Given the description of an element on the screen output the (x, y) to click on. 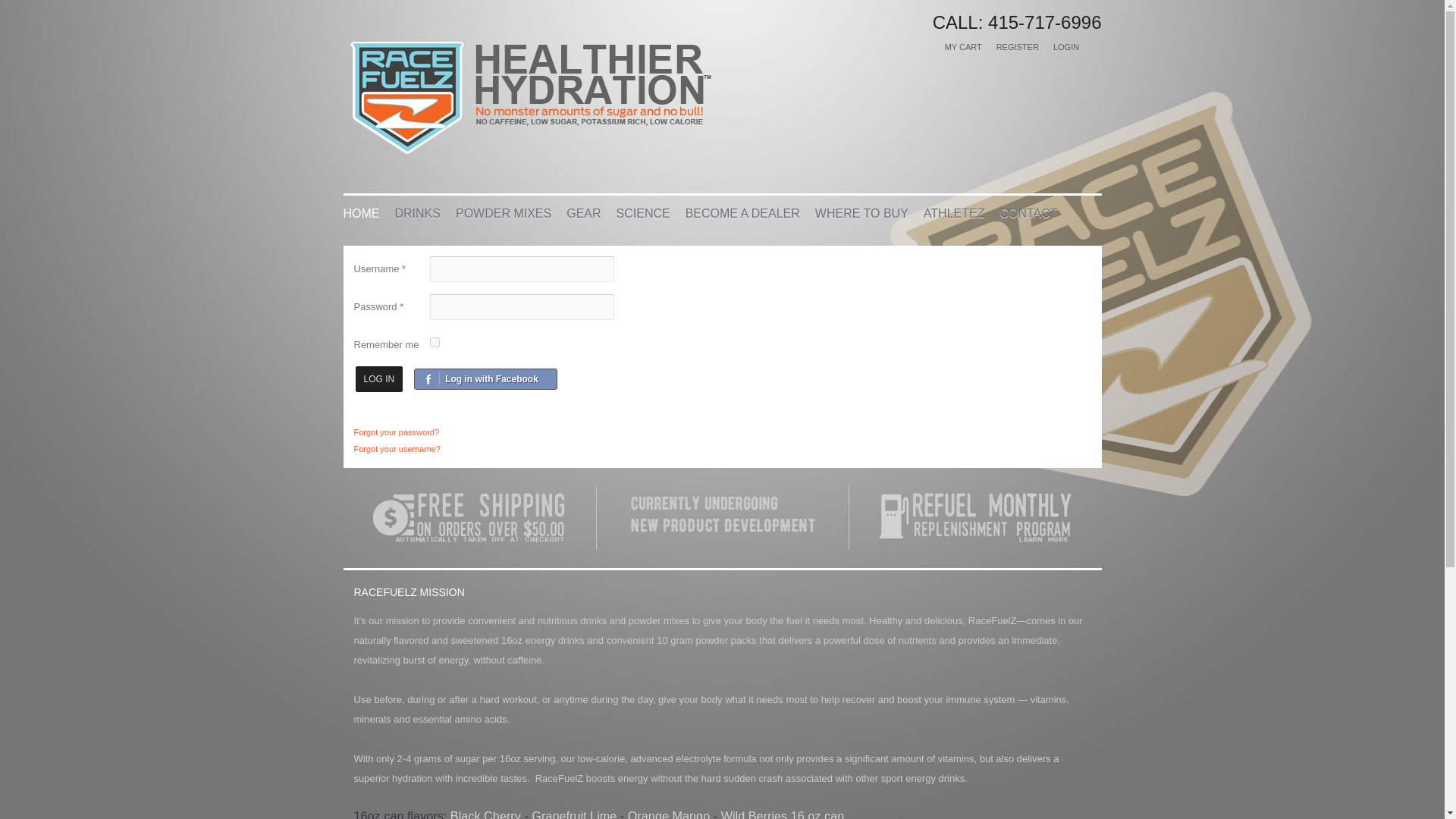
Forgot your username? (396, 448)
WHERE TO BUY (861, 212)
RaceFuelZ Grapefruit Lime 16oz can (573, 813)
Grapefruit Lime (573, 813)
BECOME A DEALER (742, 212)
LOGIN (1065, 46)
DRINKS (416, 212)
MY CART (962, 46)
RaceFuelZ Black Cherry 16oz can (485, 813)
Black Cherry (485, 813)
REGISTER (1017, 46)
CONTACT (1027, 212)
Wild Berries 16 oz can (782, 813)
yes (434, 342)
Orange Mango (668, 813)
